Given the description of an element on the screen output the (x, y) to click on. 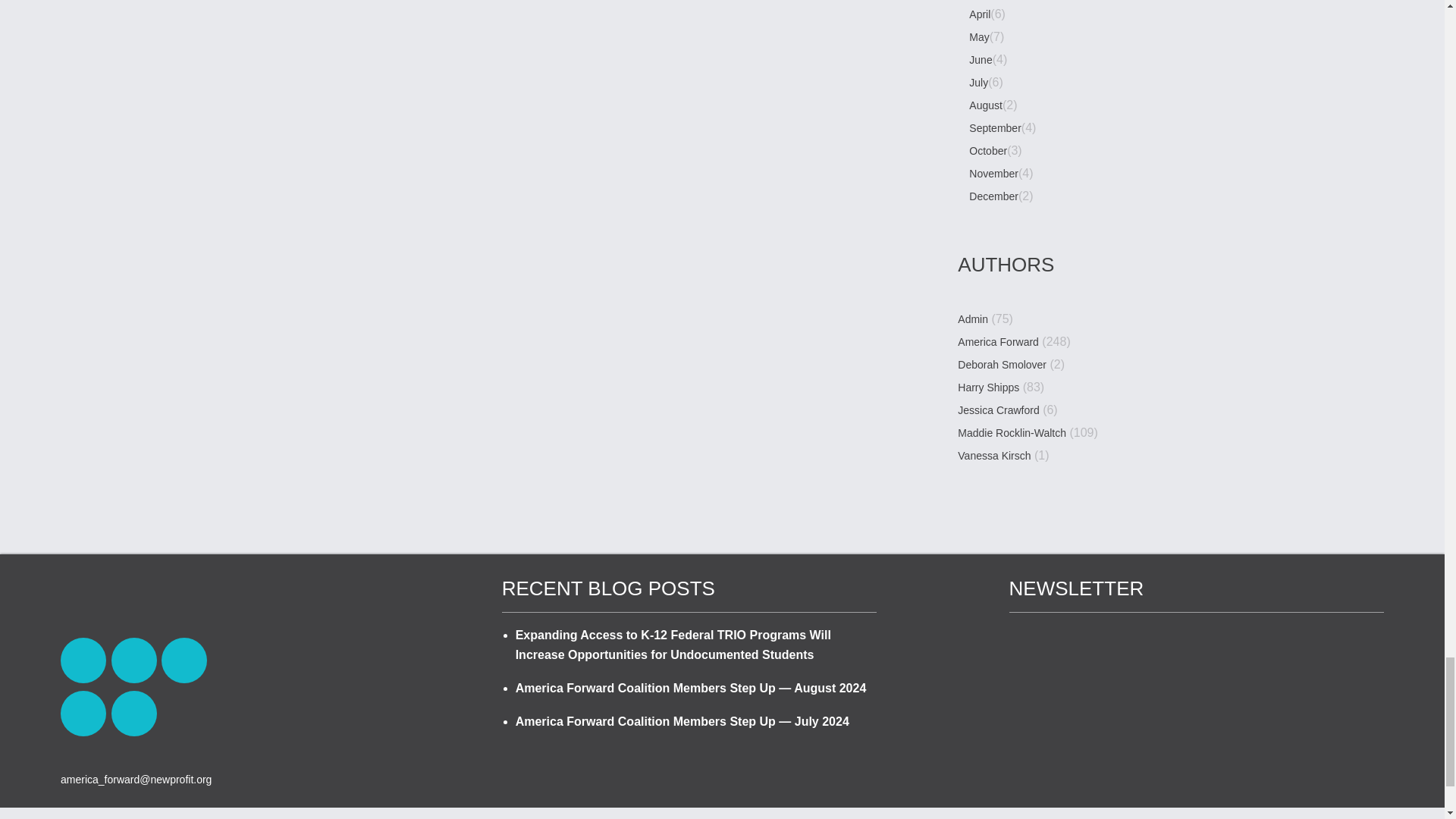
Posts by Maddie Rocklin-Waltch (1011, 433)
Posts by Deborah Smolover (1002, 365)
Posts by Jessica Crawford (998, 410)
Posts by Admin (973, 319)
Posts by Harry Shipps (988, 387)
Posts by America Forward (998, 342)
Posts by Vanessa Kirsch (994, 456)
